Given the description of an element on the screen output the (x, y) to click on. 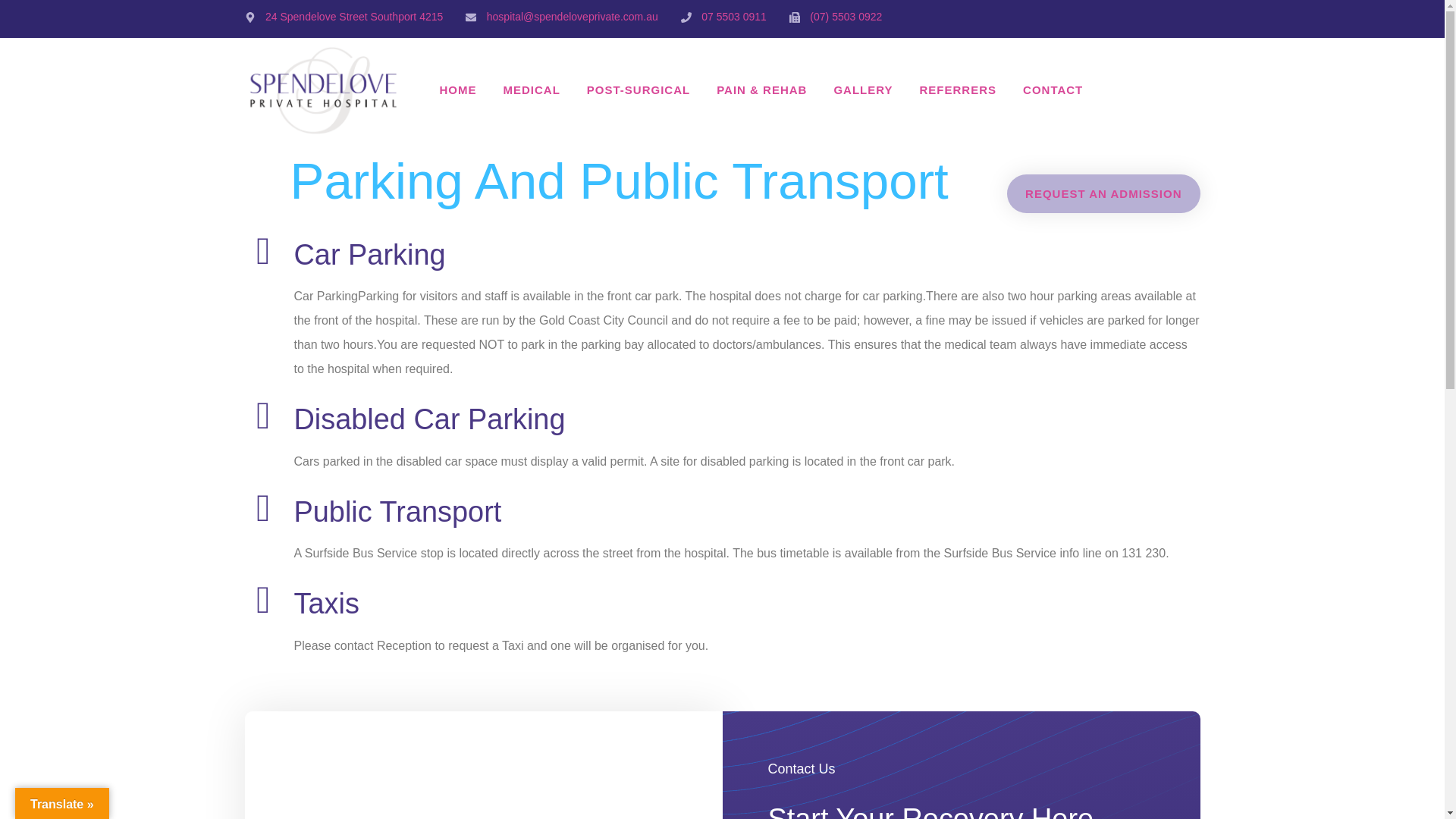
POST-SURGICAL (638, 89)
MEDICAL (531, 89)
CONTACT (1052, 89)
REFERRERS (958, 89)
HOME (457, 89)
07 5503 0911 (724, 16)
GALLERY (863, 89)
REQUEST AN ADMISSION (1103, 193)
